Given the description of an element on the screen output the (x, y) to click on. 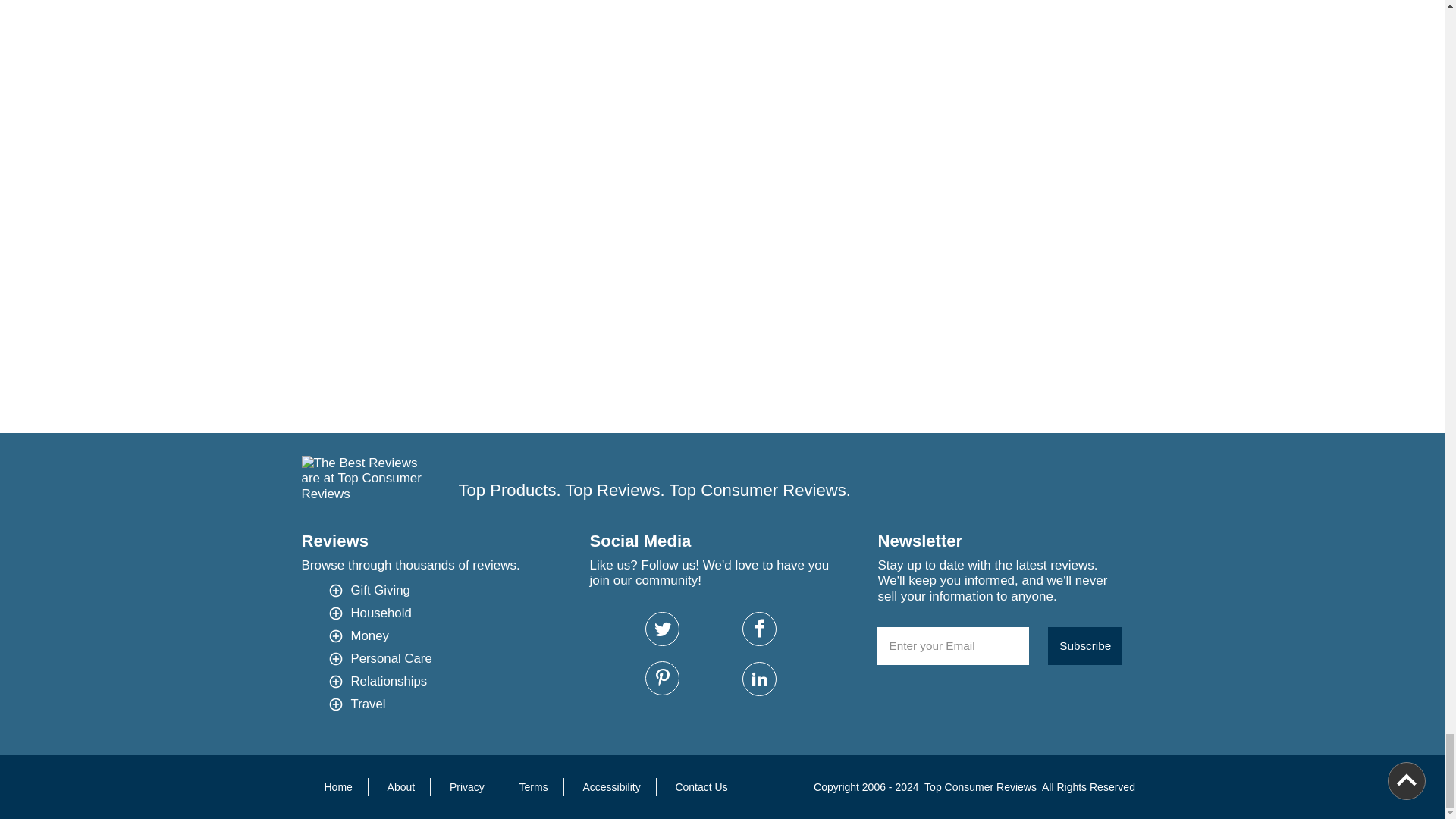
Visit Top Consumer Reviews on LinkedIn (759, 678)
Visit Top Consumer Reviews on Twitter (662, 628)
Visit Top Consumer Reviews on Pinterest (662, 677)
Visit Top Consumer Reviews on Facebook (759, 628)
